Given the description of an element on the screen output the (x, y) to click on. 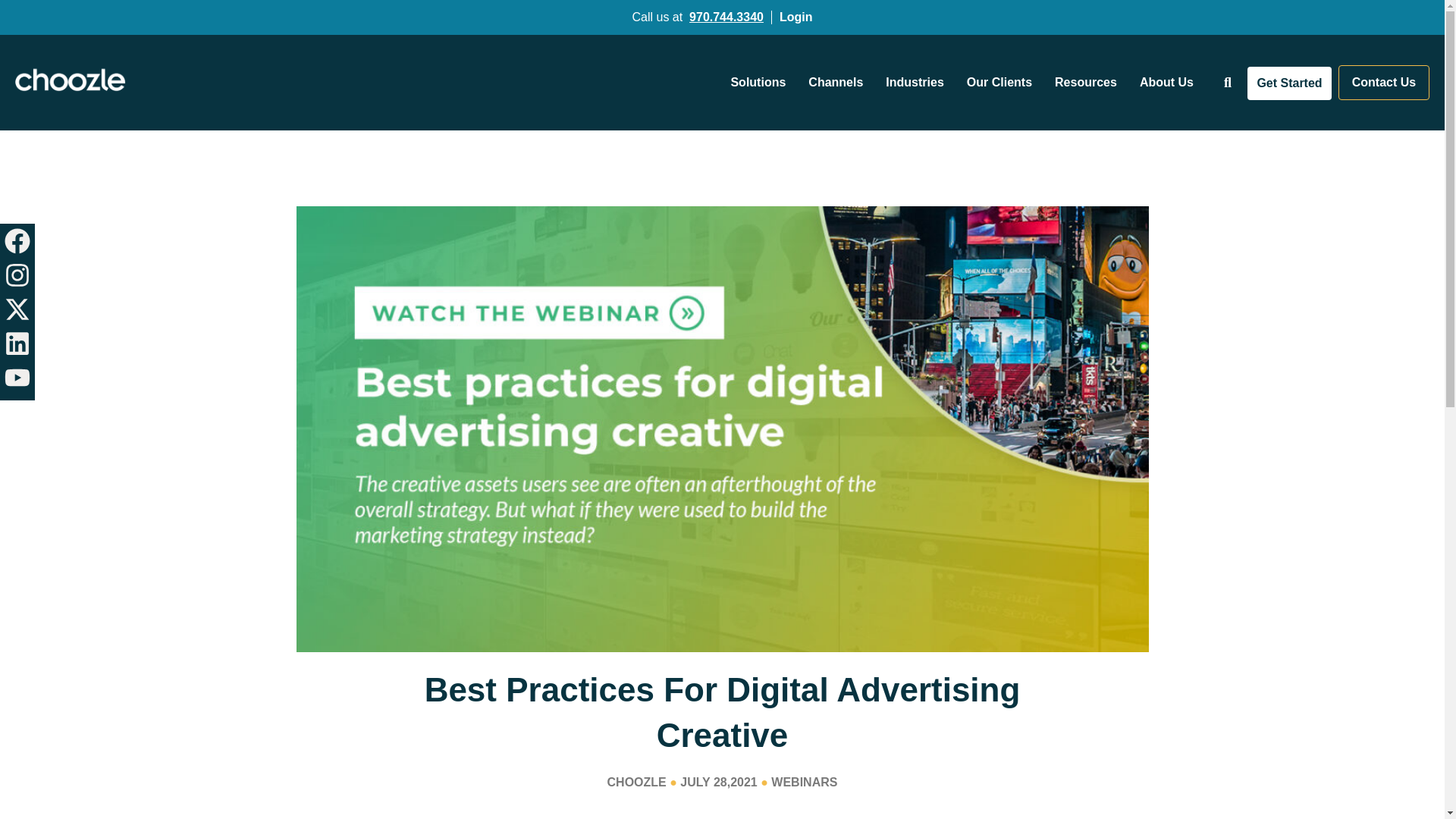
Resources (1089, 82)
Channels (838, 82)
Login (795, 16)
Solutions (761, 82)
About Us (1170, 82)
Industries (917, 82)
Our Clients (1002, 82)
970.744.3340 (725, 16)
